Given the description of an element on the screen output the (x, y) to click on. 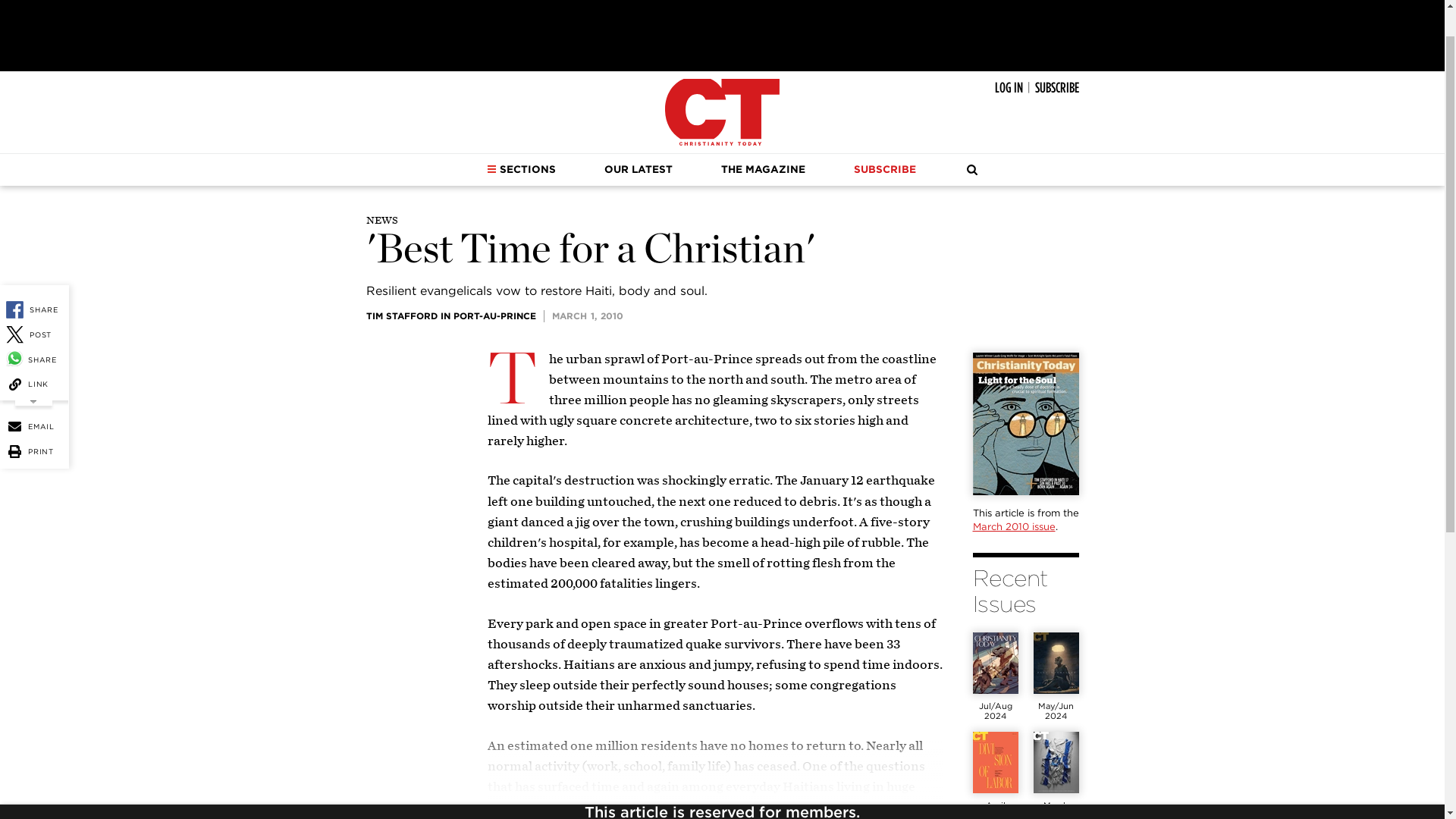
SECTIONS (521, 169)
3rd party ad content (721, 31)
Sections Dropdown (491, 168)
Christianity Today (721, 111)
LOG IN (1008, 87)
SUBSCRIBE (1055, 87)
